Given the description of an element on the screen output the (x, y) to click on. 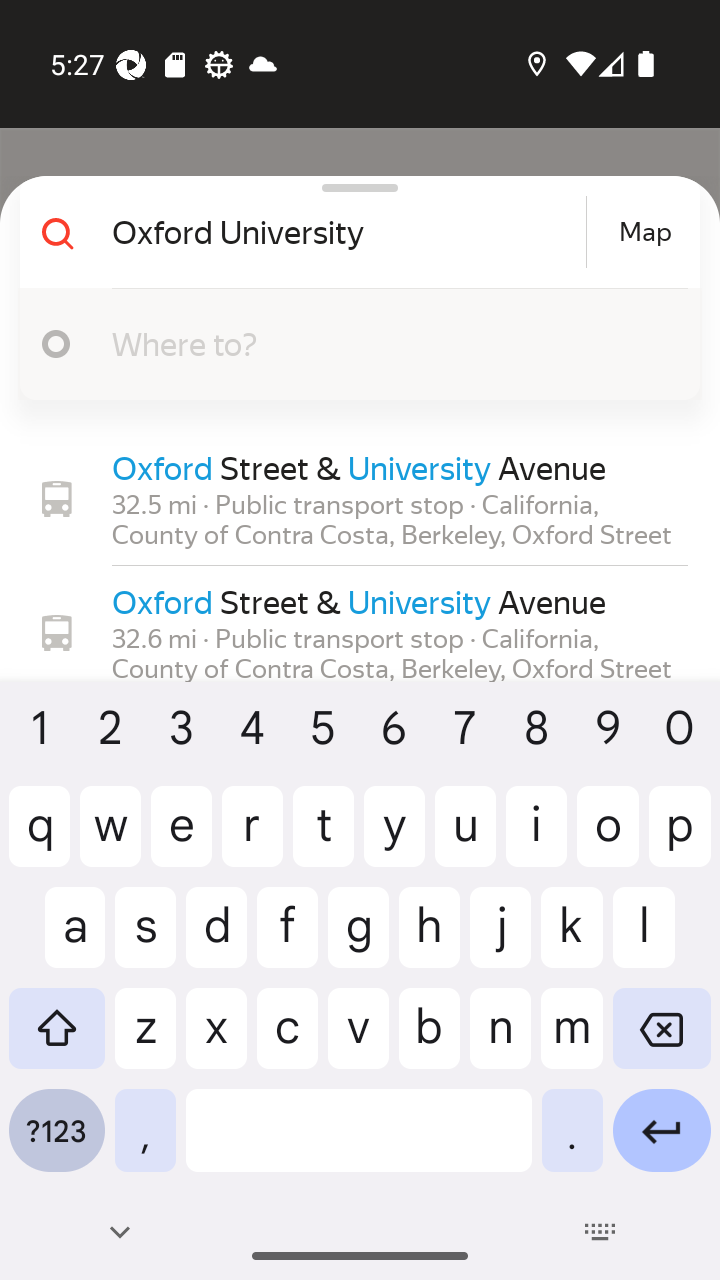
Oxford University Map Map (352, 232)
Map (645, 232)
Oxford University (346, 232)
Where to? (352, 343)
Where to? (390, 343)
